Given the description of an element on the screen output the (x, y) to click on. 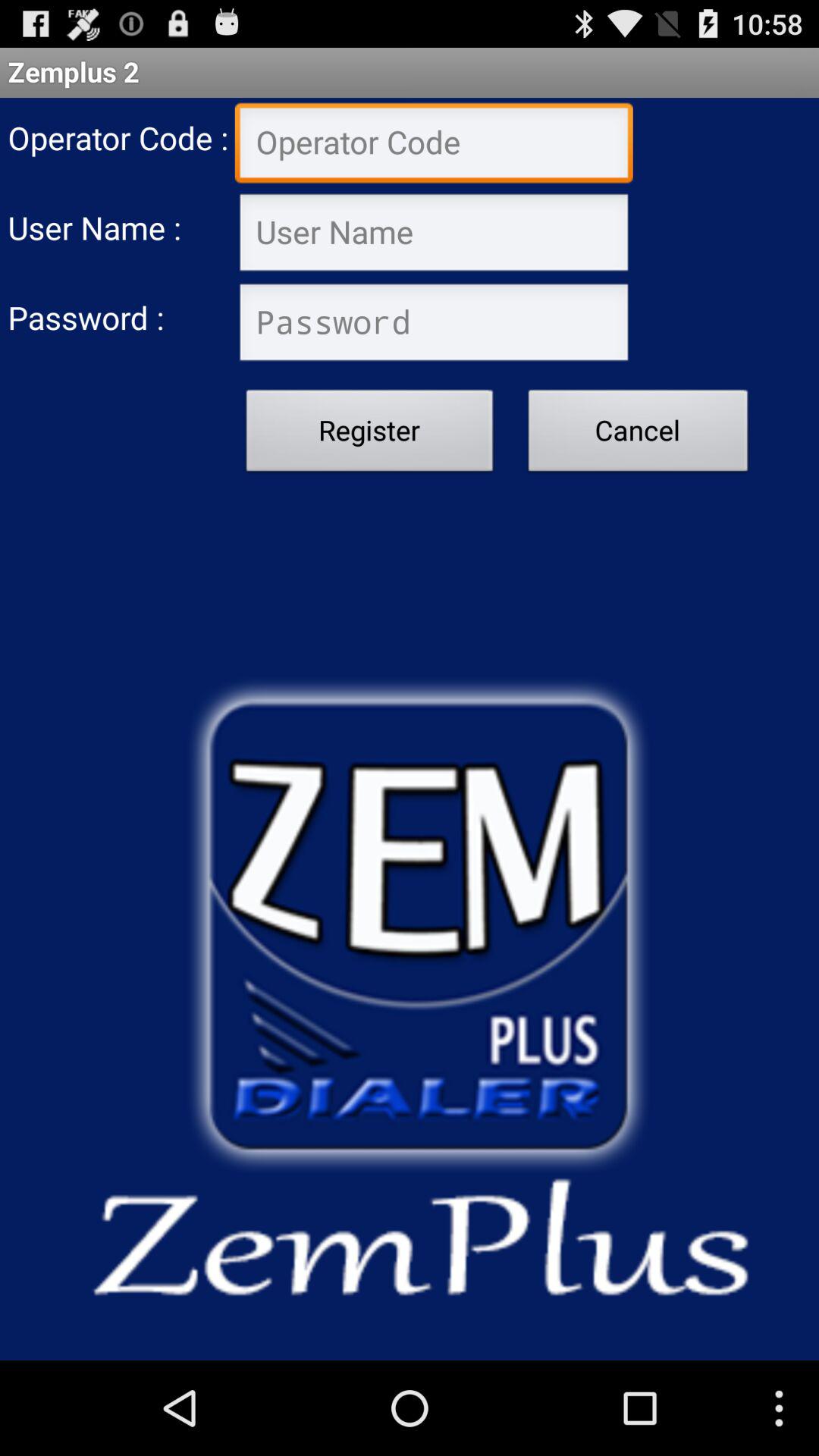
enter username (433, 234)
